Given the description of an element on the screen output the (x, y) to click on. 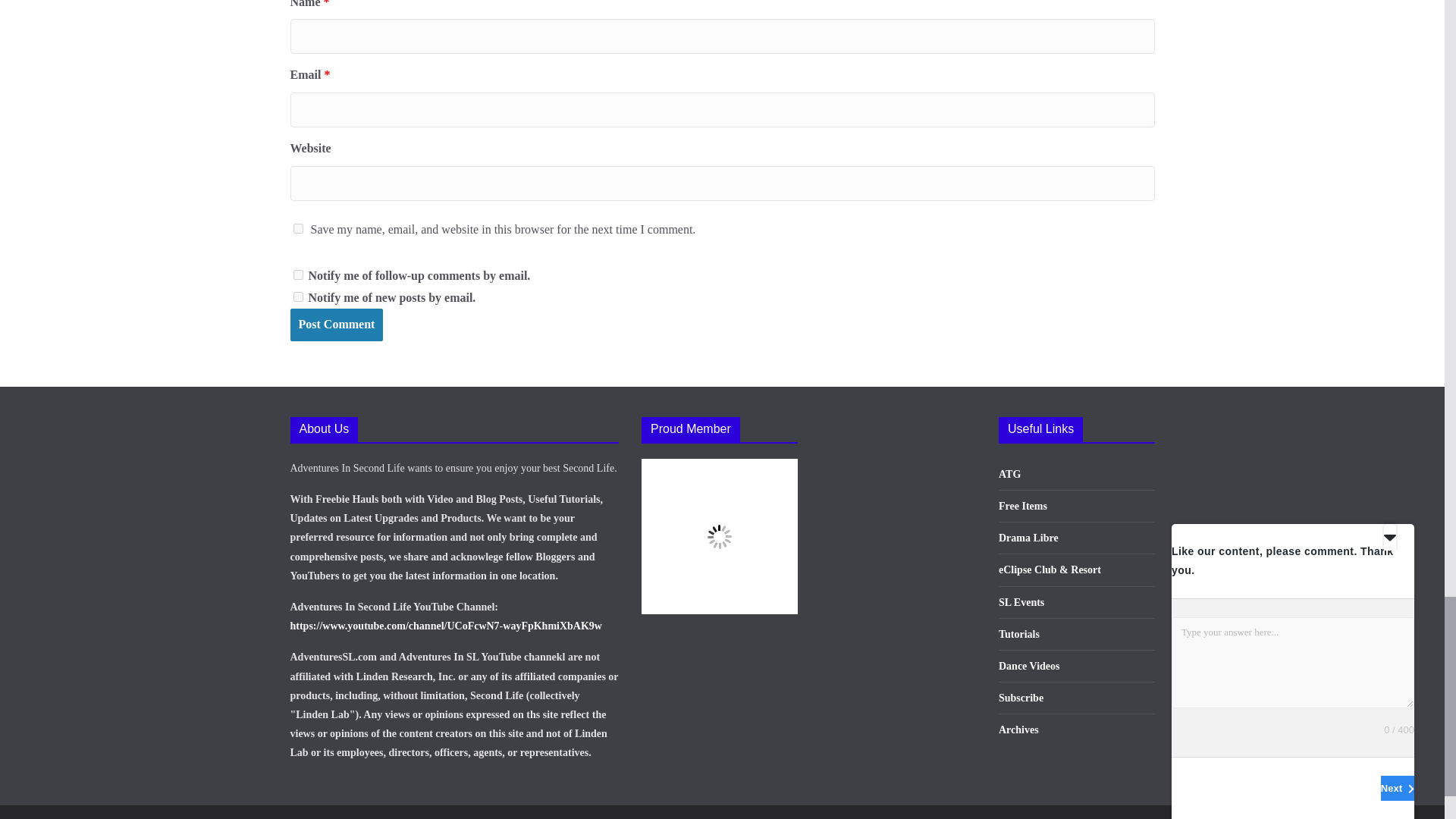
subscribe (297, 296)
yes (297, 228)
subscribe (297, 275)
Post Comment (335, 324)
